Given the description of an element on the screen output the (x, y) to click on. 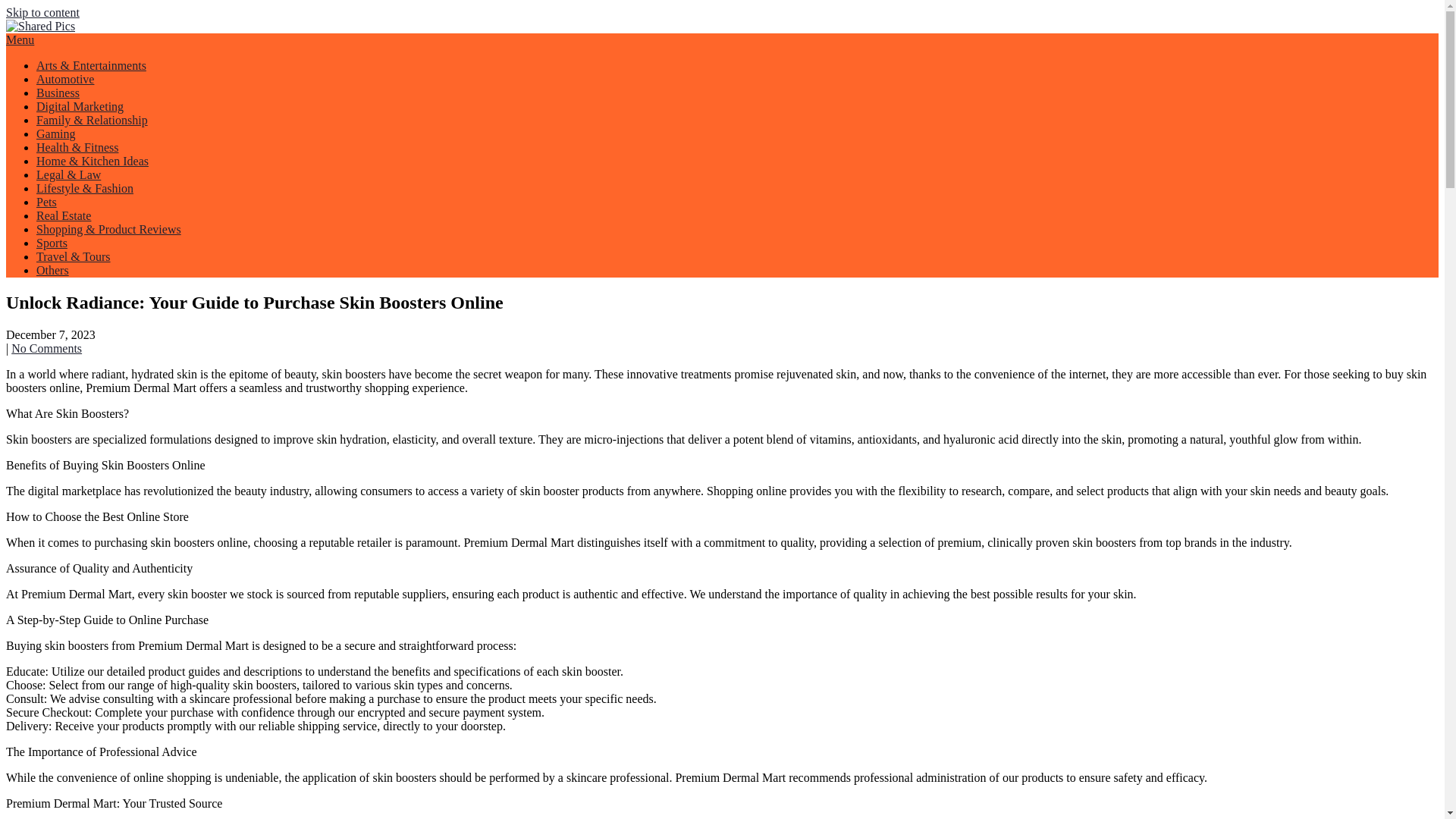
Pets (46, 201)
Business (58, 92)
No Comments (46, 348)
Sports (51, 242)
Digital Marketing (79, 106)
Skip to content (42, 11)
Menu (19, 39)
Automotive (65, 78)
Shared Pics (66, 62)
Others (52, 269)
Real Estate (63, 215)
Gaming (55, 133)
